Given the description of an element on the screen output the (x, y) to click on. 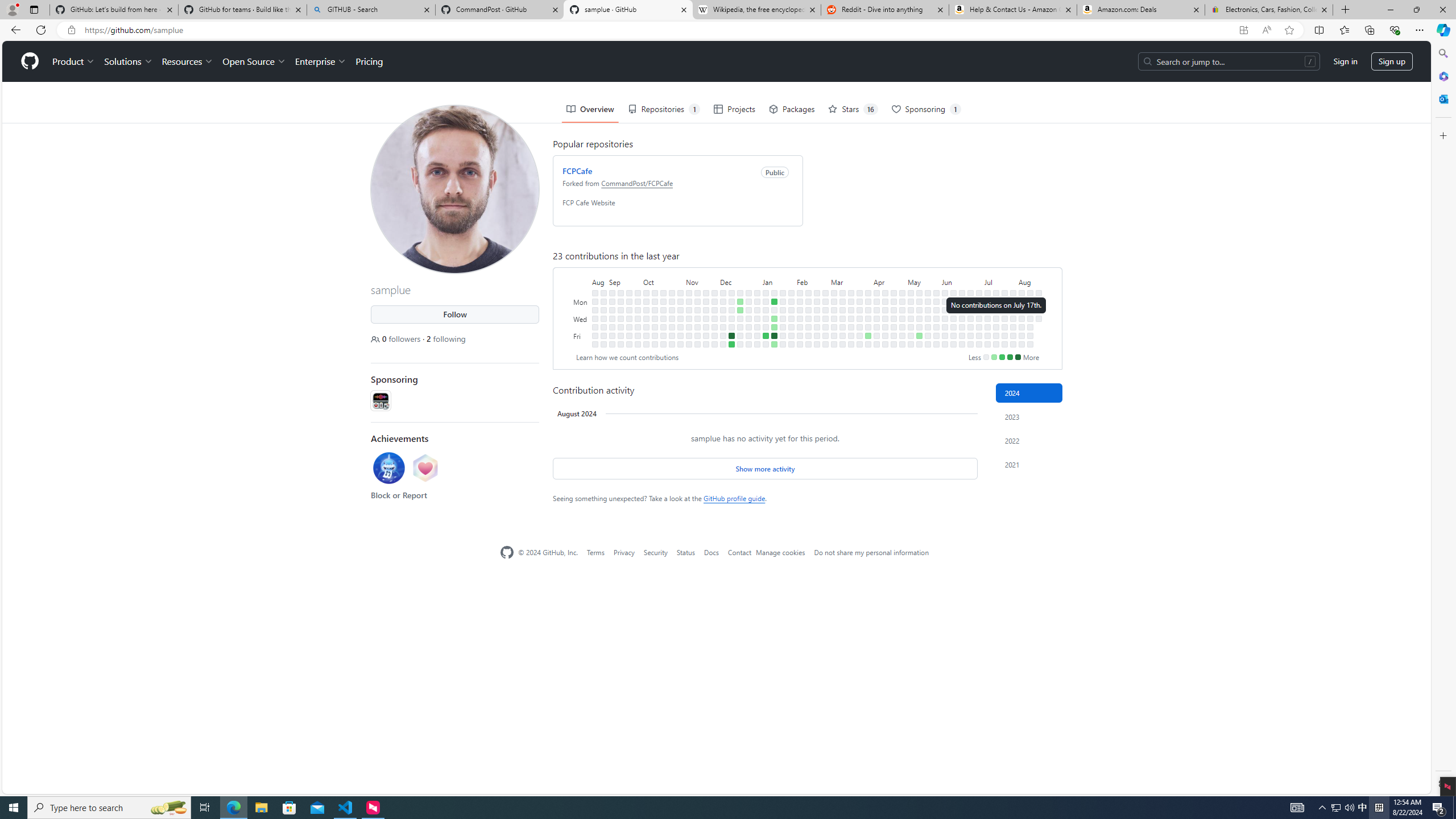
No contributions on January 26th. (783, 335)
Enterprise (319, 60)
@CommandPost (380, 400)
No contributions on October 23rd. (671, 301)
No contributions on June 20th. (962, 326)
Security (655, 552)
No contributions on November 20th. (706, 301)
Achievement: Public Sponsor (425, 467)
No contributions on October 9th. (655, 301)
No contributions on May 13th. (919, 301)
Pricing (368, 60)
No contributions on July 7th. (987, 292)
